Given the description of an element on the screen output the (x, y) to click on. 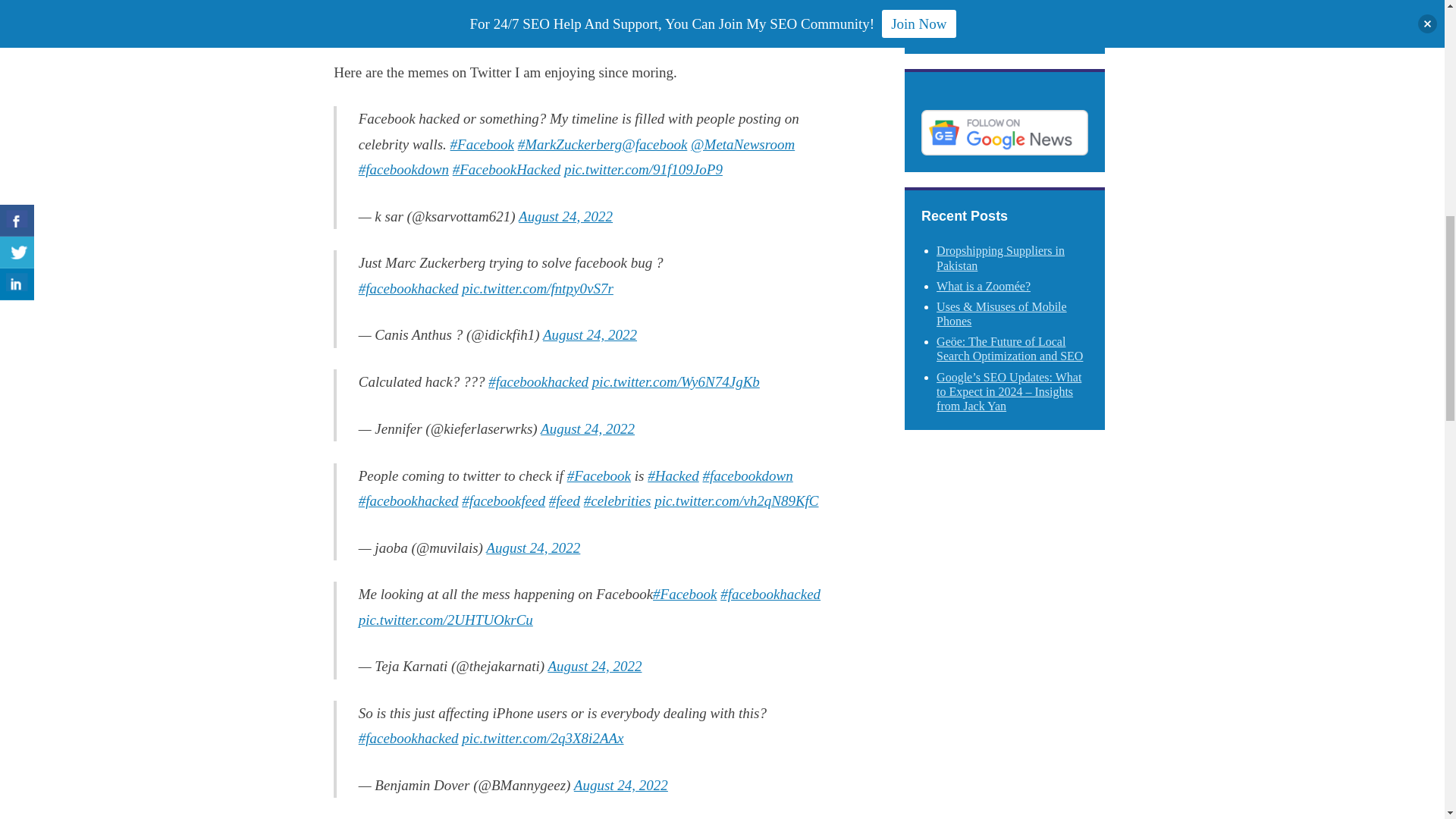
August 24, 2022 (565, 216)
August 24, 2022 (587, 428)
August 24, 2022 (590, 334)
